Given the description of an element on the screen output the (x, y) to click on. 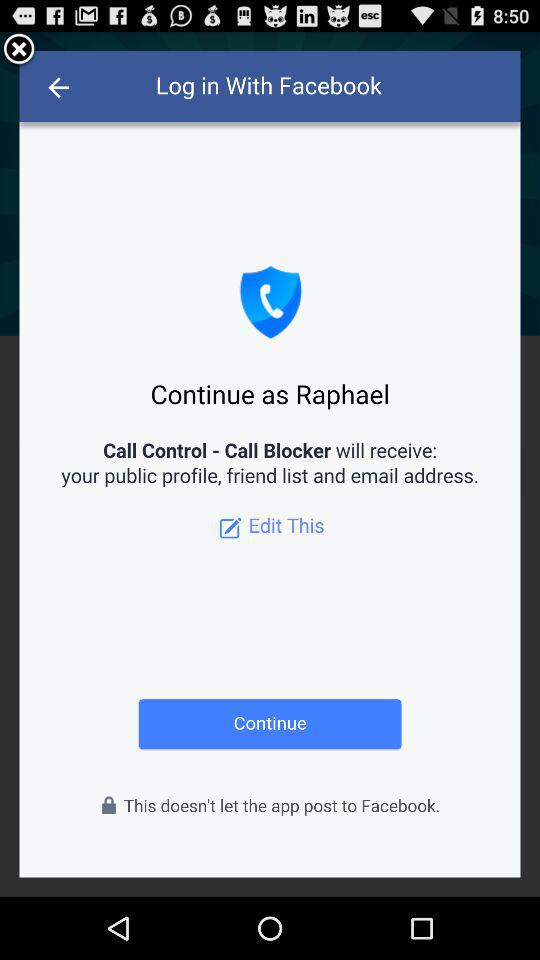
close screen (19, 50)
